Given the description of an element on the screen output the (x, y) to click on. 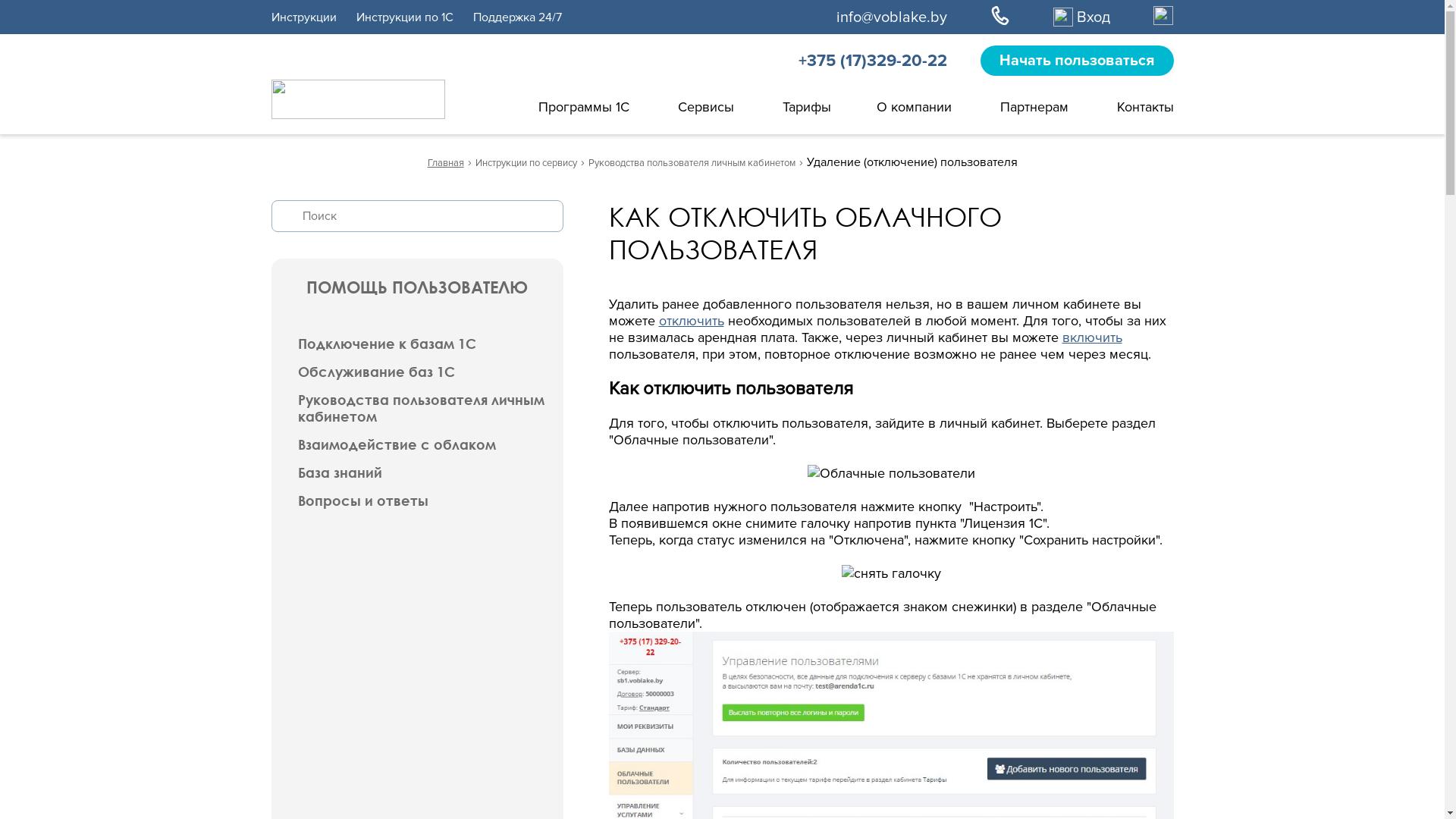
info@voblake.by Element type: text (890, 16)
+375 (17)329-20-22 Element type: text (871, 60)
